Given the description of an element on the screen output the (x, y) to click on. 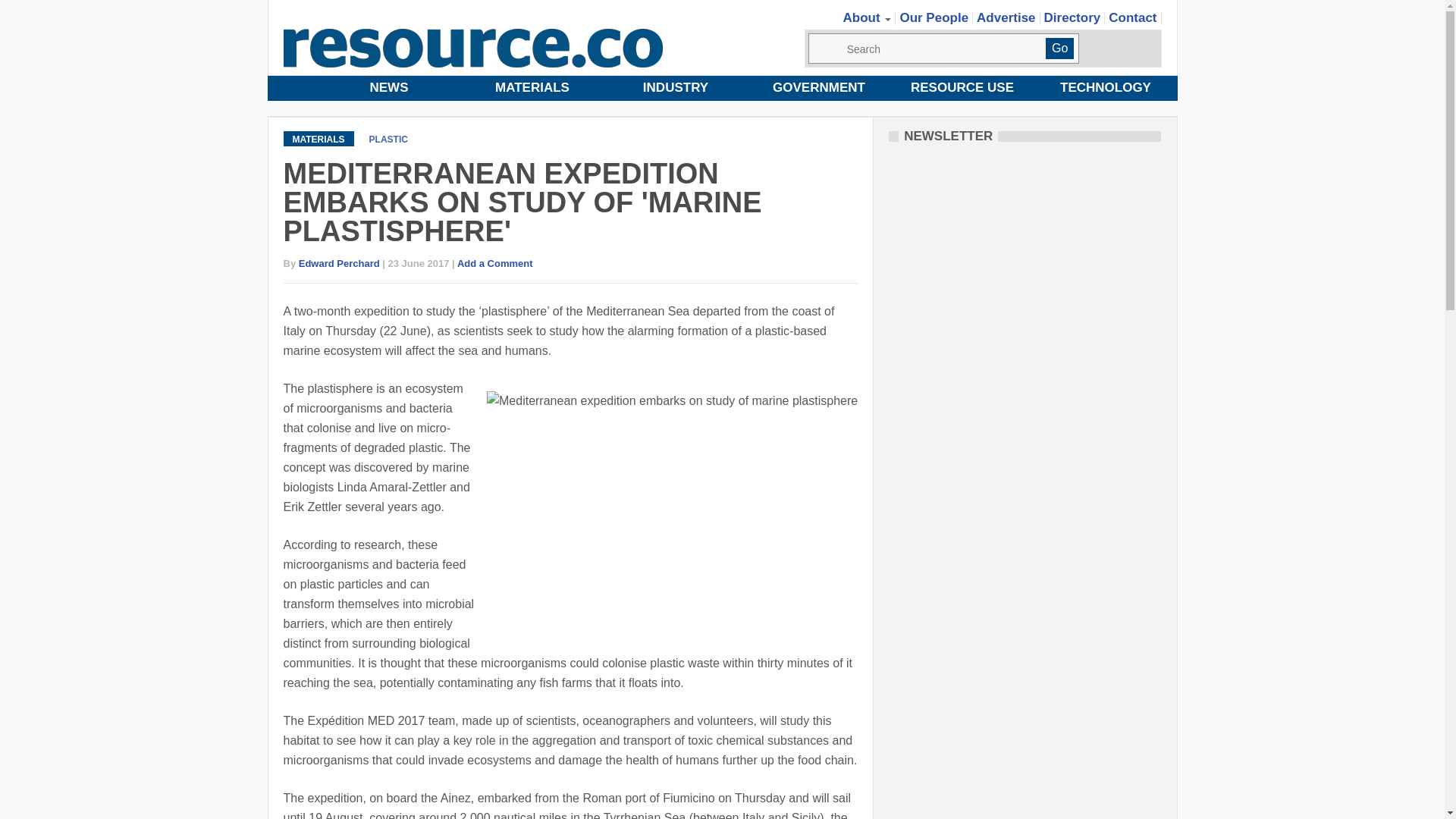
Our People (933, 18)
Go (1059, 47)
Contact (1132, 18)
Materials (532, 88)
HOME (290, 88)
MATERIALS (532, 88)
Go (1059, 47)
About (868, 18)
Advertise (1005, 18)
Our People (933, 18)
